Given the description of an element on the screen output the (x, y) to click on. 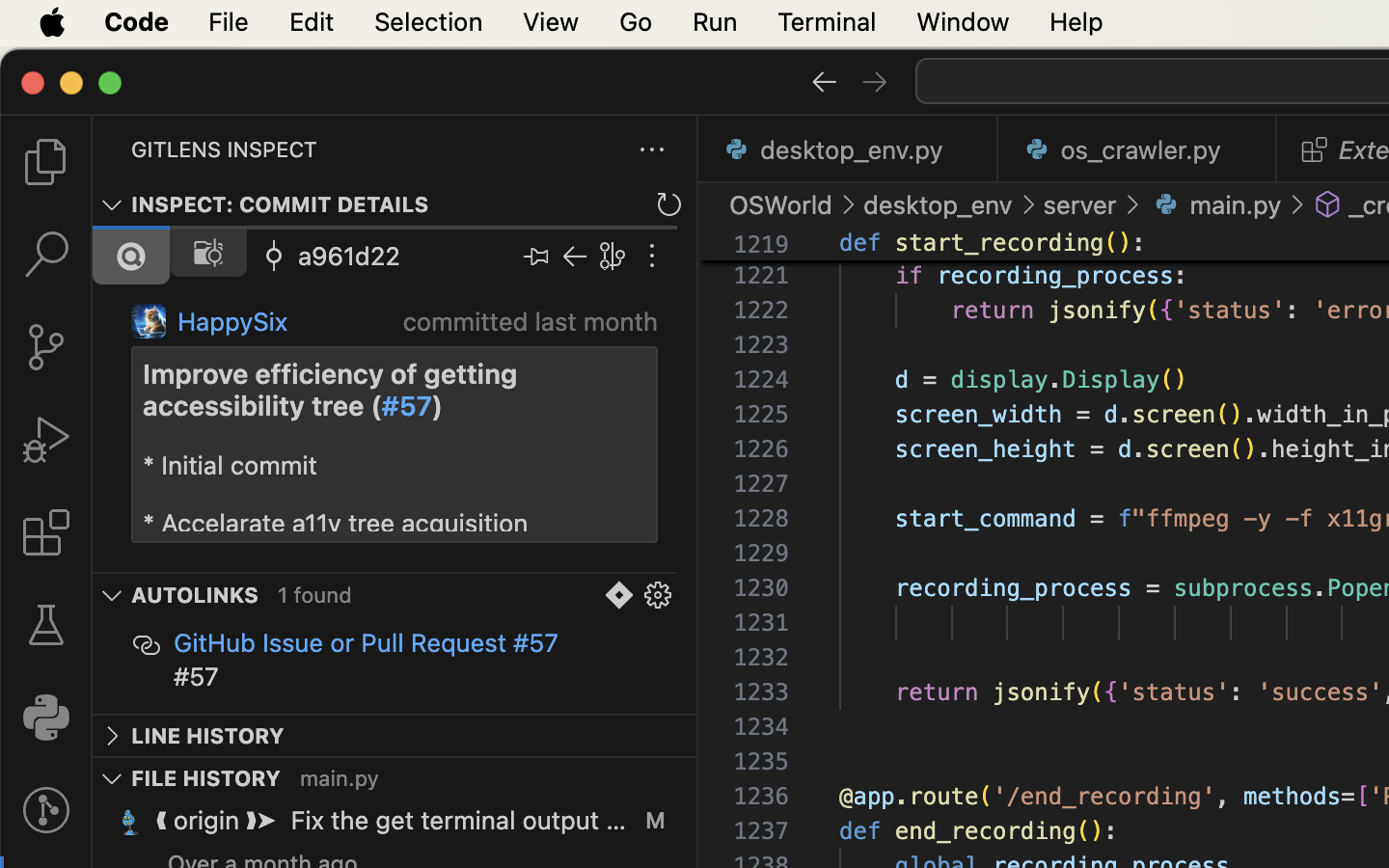
last month Element type: AXStaticText (595, 321)
 Element type: AXStaticText (651, 256)
 Element type: AXStaticText (657, 595)
 Element type: AXStaticText (1327, 204)
